Given the description of an element on the screen output the (x, y) to click on. 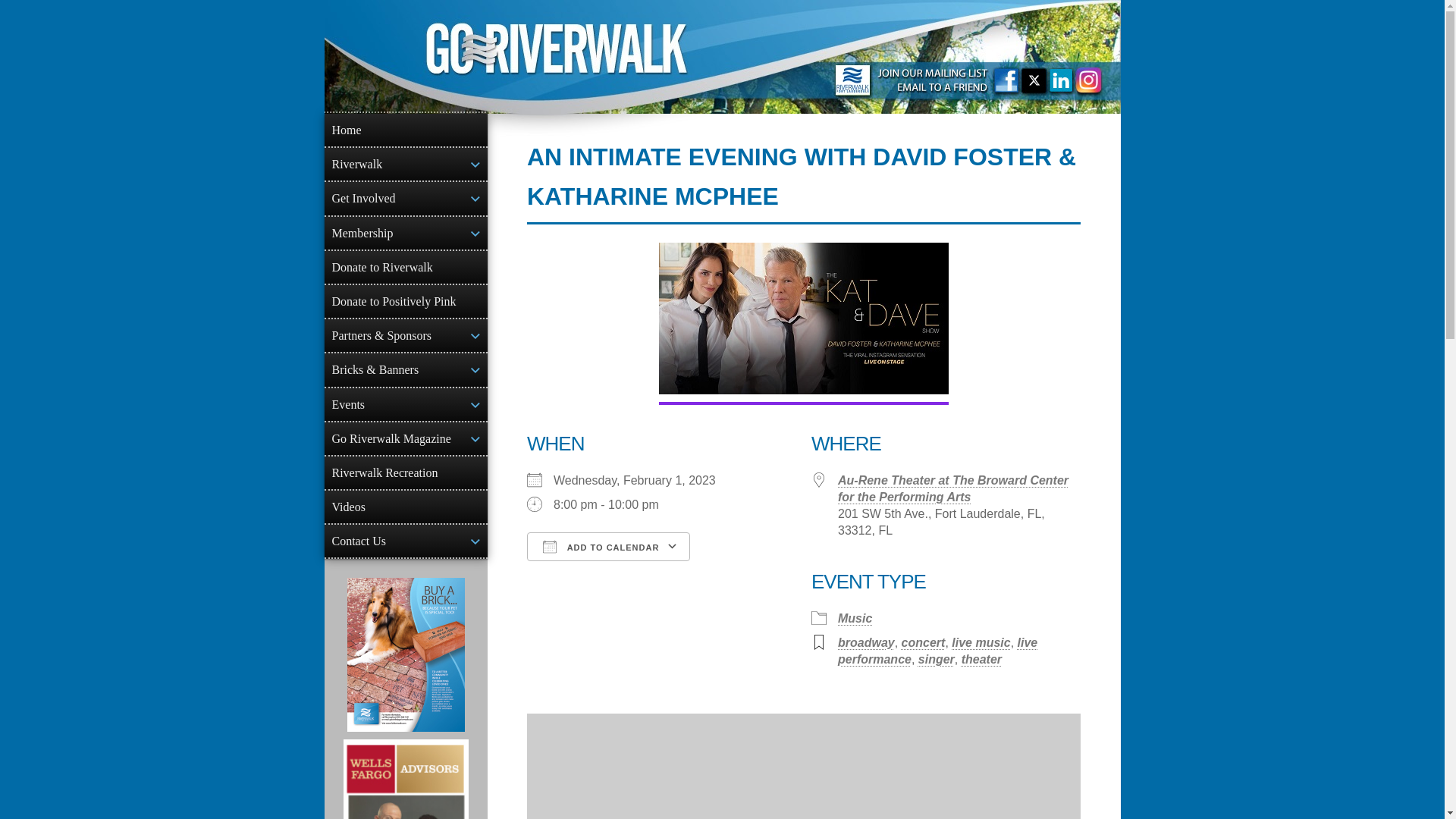
live performance (937, 650)
theater (980, 658)
Download ICS (601, 573)
Get Involved (405, 197)
live music (981, 642)
broadway (866, 642)
Riverwalk (405, 164)
Google Calendar (751, 573)
concert (922, 642)
ADD TO CALENDAR (608, 546)
singer (936, 658)
Music (855, 617)
Home (405, 129)
